Given the description of an element on the screen output the (x, y) to click on. 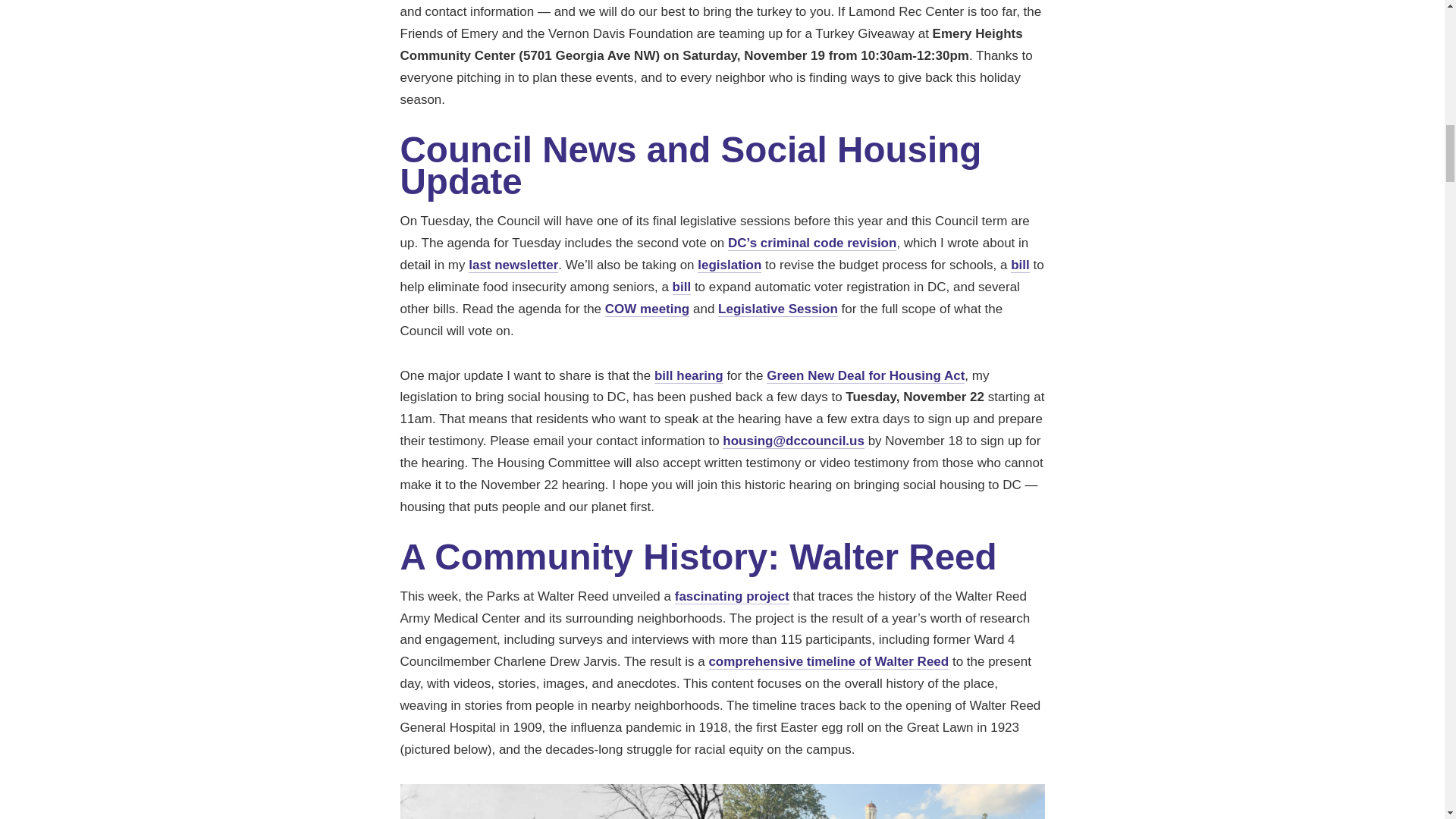
legislation (729, 264)
last newsletter (512, 264)
